Given the description of an element on the screen output the (x, y) to click on. 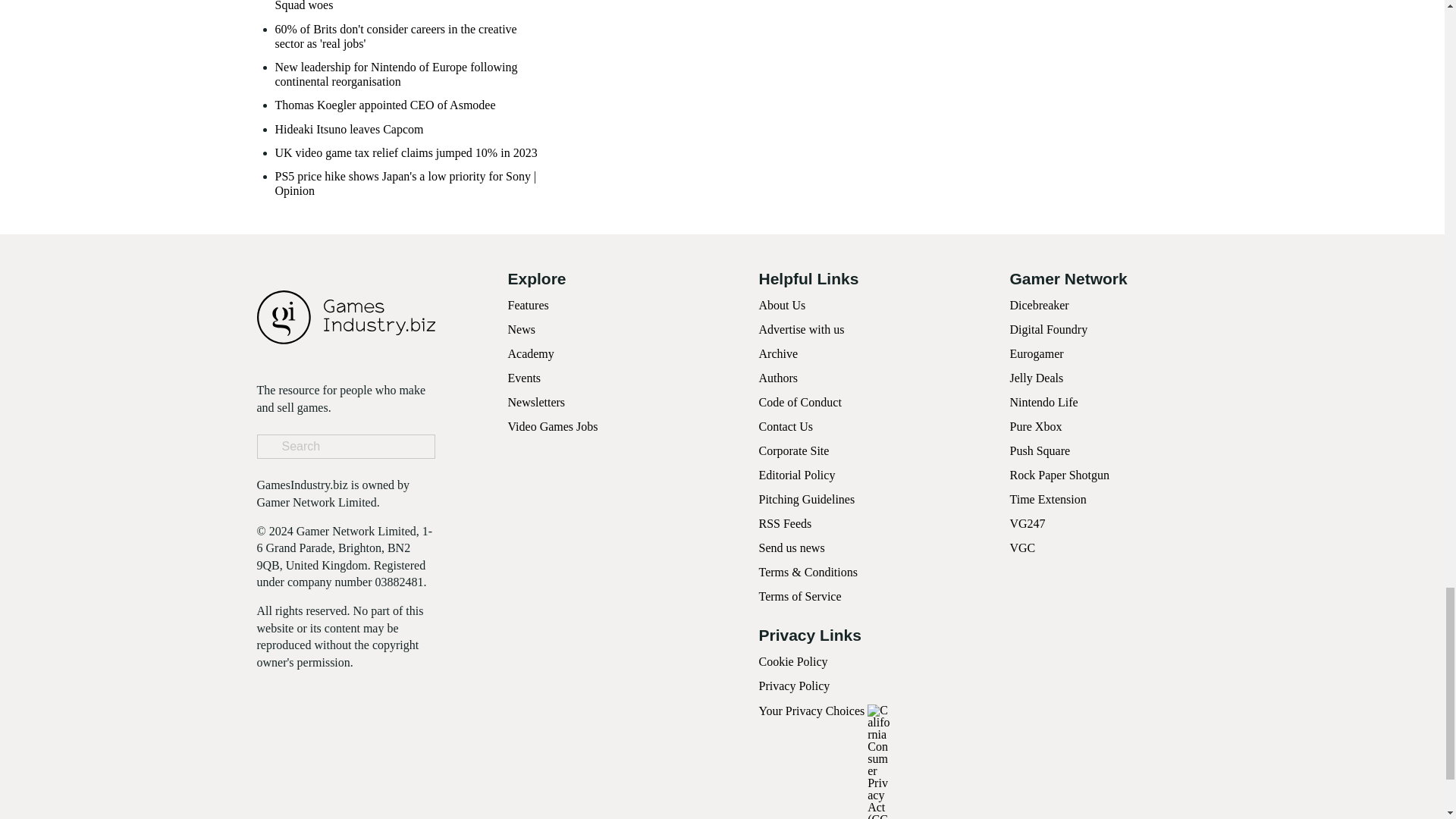
Events (524, 377)
Hideaki Itsuno leaves Capcom (349, 129)
Newsletters (537, 401)
Features (528, 305)
Thomas Koegler appointed CEO of Asmodee (385, 104)
Academy (531, 353)
Video Games Jobs (553, 426)
News (521, 328)
About Us (781, 305)
